Given the description of an element on the screen output the (x, y) to click on. 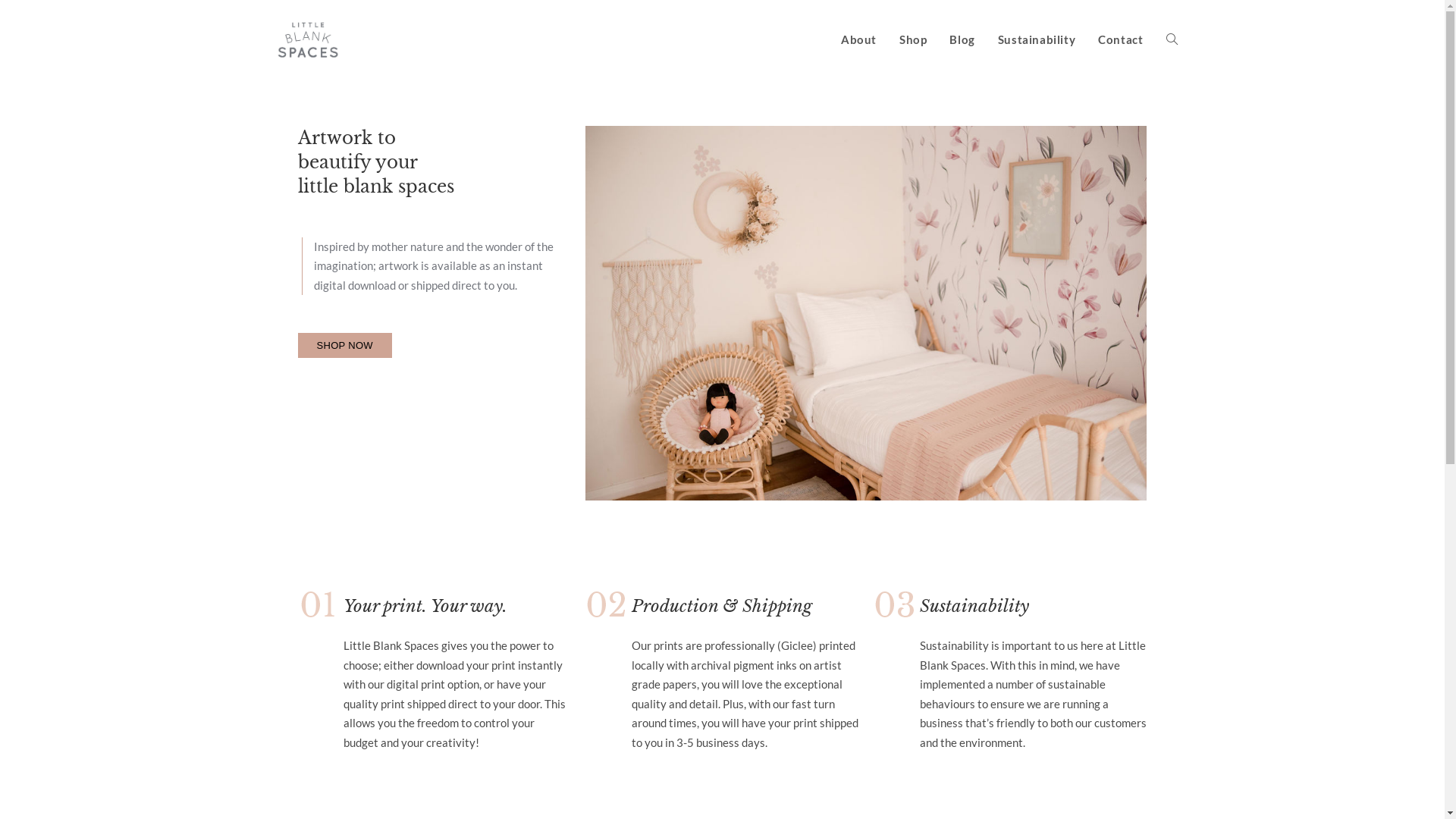
Sustainability Element type: text (1036, 39)
Shop Element type: text (913, 39)
Blog Element type: text (961, 39)
Contact Element type: text (1120, 39)
About Element type: text (858, 39)
SHOP NOW Element type: text (344, 344)
